Given the description of an element on the screen output the (x, y) to click on. 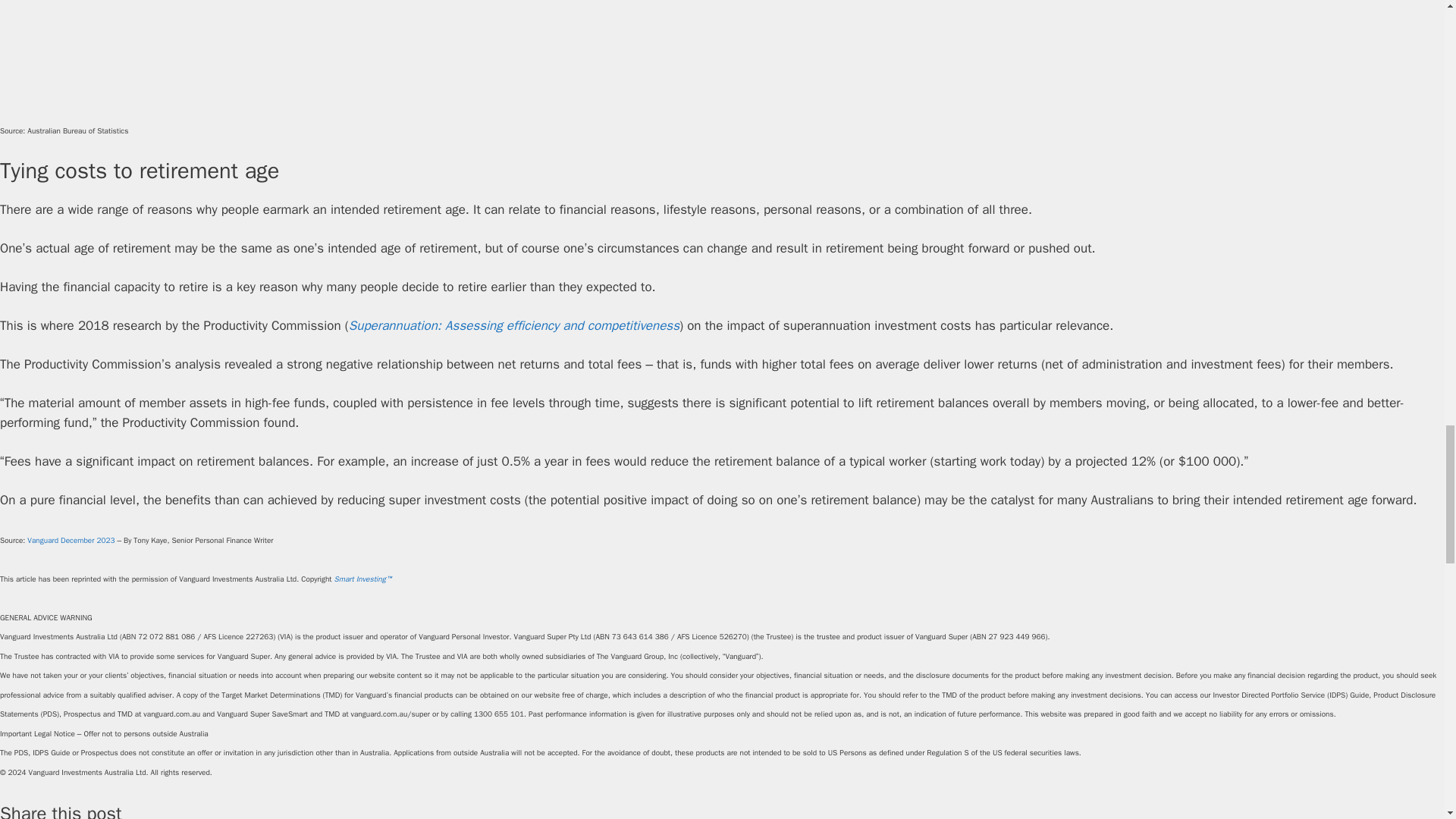
Vanguard December 2023 (71, 540)
Superannuation: Assessing efficiency and competitiveness (514, 325)
